Given the description of an element on the screen output the (x, y) to click on. 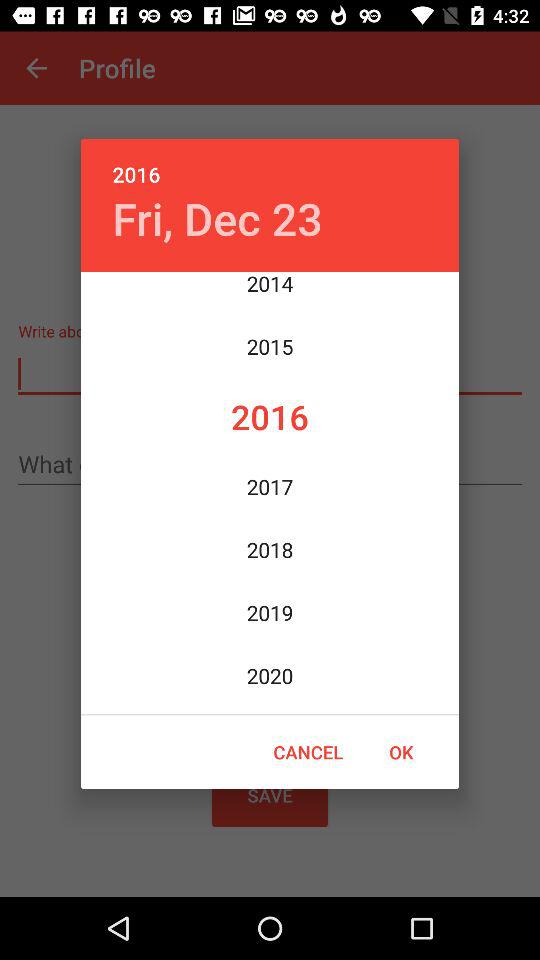
click ok at the bottom right corner (401, 751)
